Given the description of an element on the screen output the (x, y) to click on. 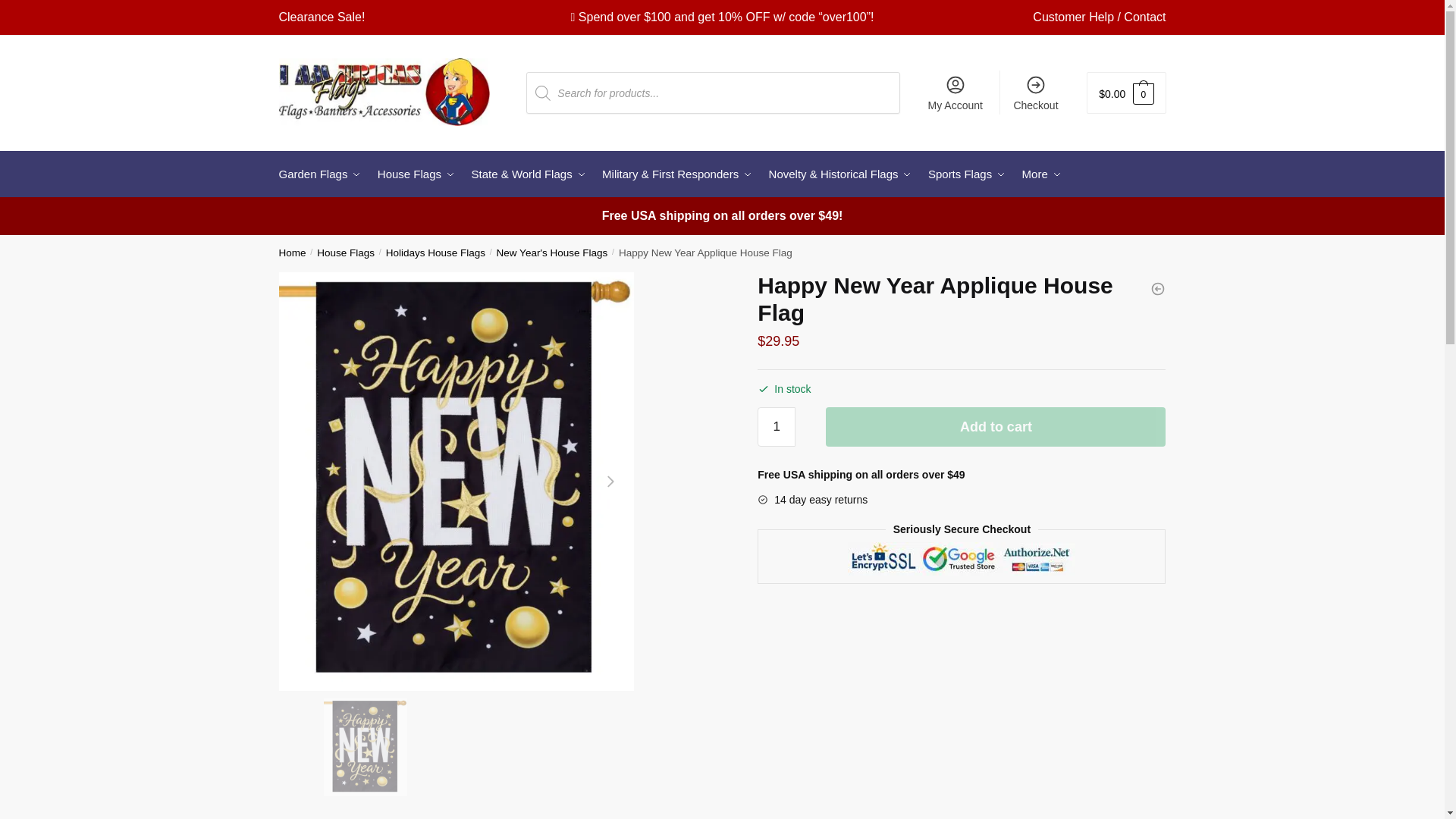
Clearance Sale! (322, 16)
View your shopping cart (1126, 92)
Checkout (1035, 92)
Garden Flags (323, 174)
My Account (954, 92)
1 (775, 426)
